Given the description of an element on the screen output the (x, y) to click on. 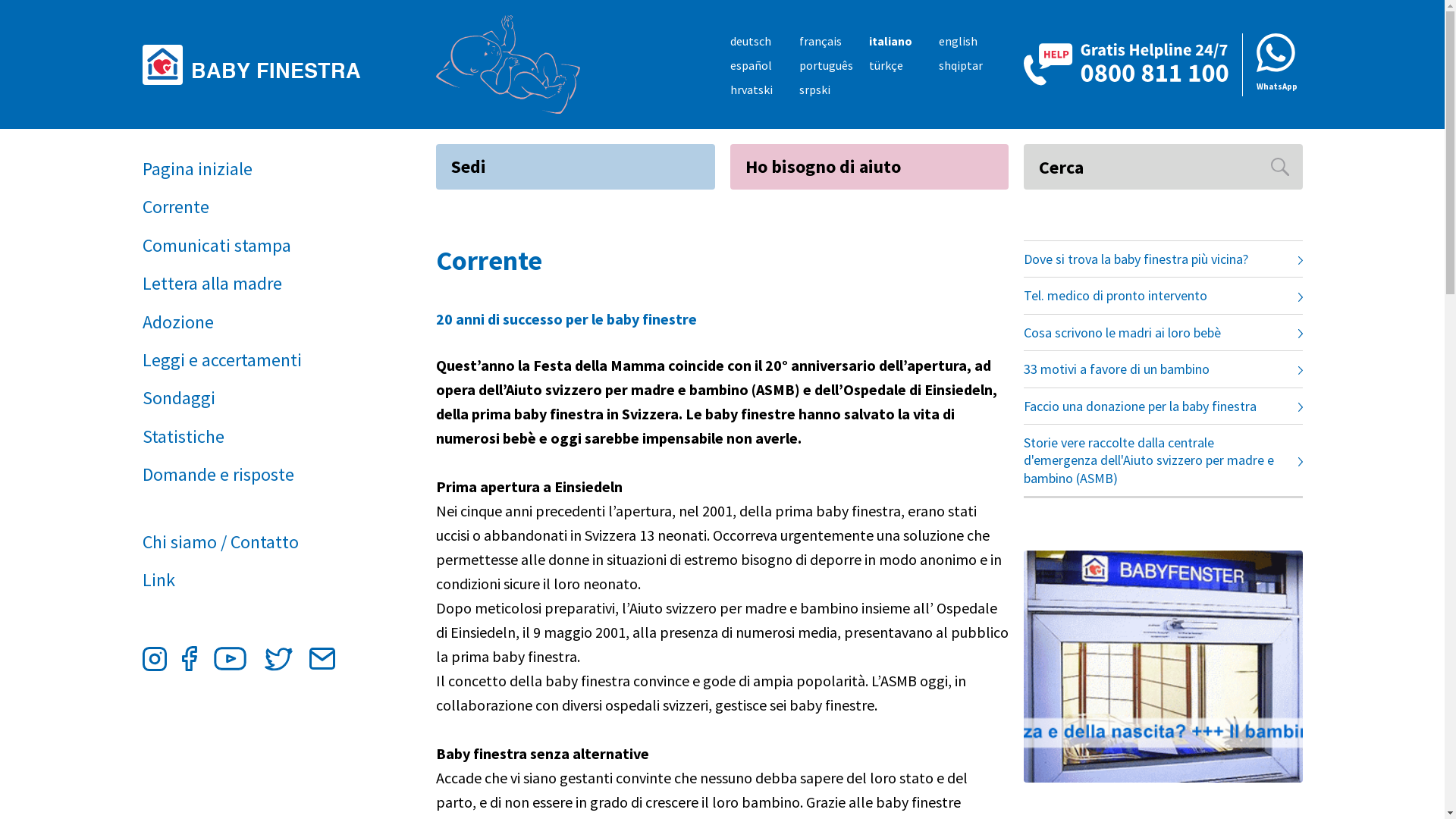
BABY FINESTRA Element type: text (257, 63)
33 motivi a favore di un bambino Element type: text (1162, 368)
Sondaggi Element type: text (253, 398)
Sedi Element type: text (575, 166)
english Element type: text (957, 40)
Comunicati stampa Element type: text (253, 245)
Faccio una donazione per la baby finestra Element type: text (1162, 405)
Leggi e accertamenti Element type: text (253, 360)
Pagina iniziale Element type: text (253, 169)
deutsch Element type: text (749, 40)
shqiptar Element type: text (960, 64)
hrvatski Element type: text (750, 89)
Ho bisogno di aiuto Element type: text (868, 166)
WhatsApp Element type: text (1272, 64)
Chi siamo / Contatto Element type: text (253, 542)
Tel. medico di pronto intervento Element type: text (1162, 295)
Statistiche Element type: text (253, 436)
Lettera alla madre Element type: text (253, 283)
Adozione Element type: text (253, 322)
Link Element type: text (253, 580)
srpski Element type: text (814, 89)
Corrente Element type: text (253, 206)
Domande e risposte Element type: text (253, 474)
italiano Element type: text (890, 40)
